Given the description of an element on the screen output the (x, y) to click on. 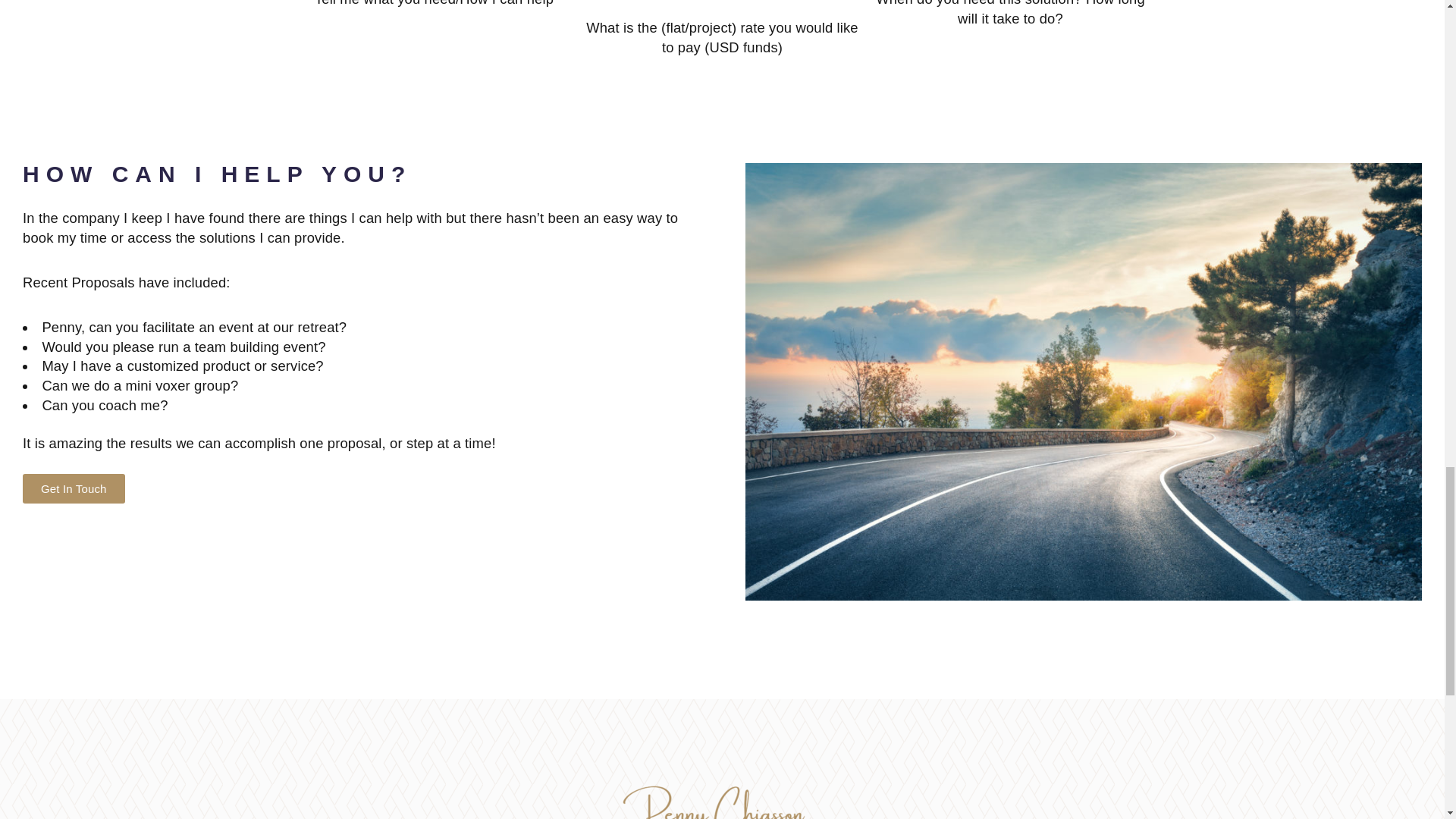
Get In Touch (74, 488)
